Given the description of an element on the screen output the (x, y) to click on. 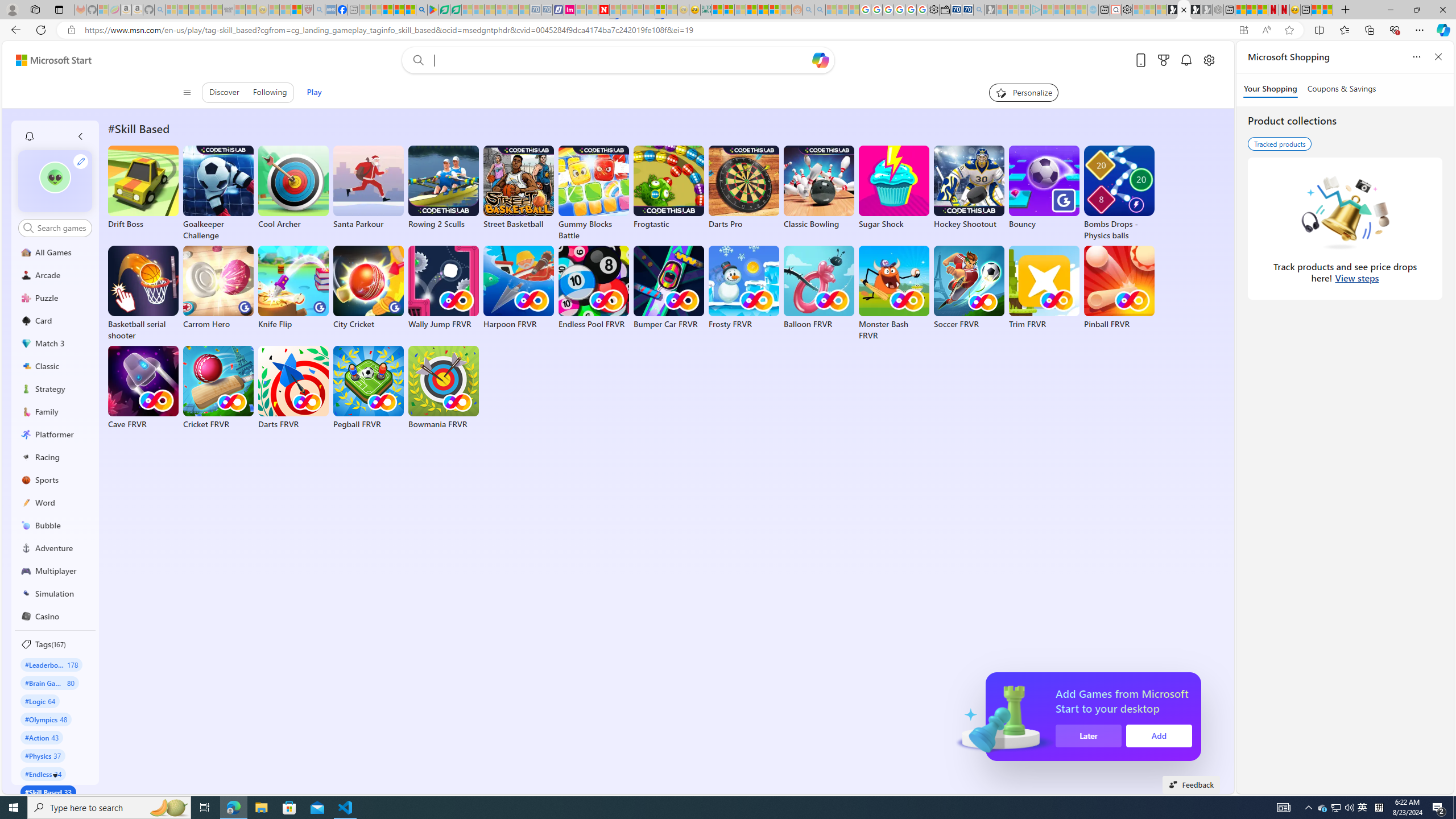
Sugar Shock (893, 187)
Frogtastic (668, 187)
Class: profile-edit (80, 160)
